Given the description of an element on the screen output the (x, y) to click on. 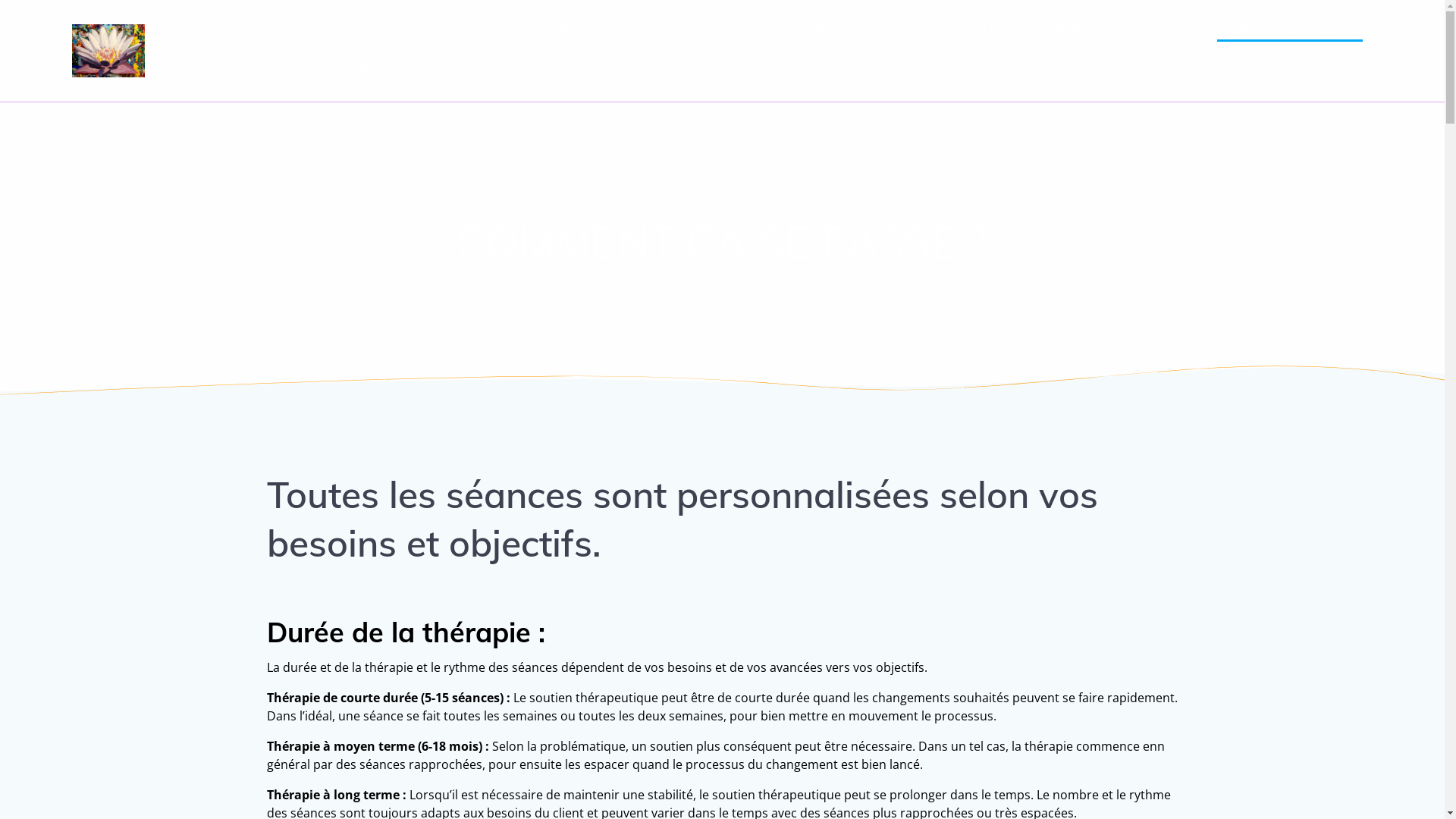
CONTACT Element type: text (428, 70)
HYPNOSE THERAPEUTIQUE Element type: text (415, 30)
QUI SUIS-JE ? Element type: text (203, 70)
THERAPIE PAR LE JEU ET/OU LE JEU DE SABLE Element type: text (644, 30)
ACCUEIL Element type: text (190, 30)
COMMENT CA SE PASSE ? Element type: text (1289, 31)
THERAPIE POUR ENFANT ET ADOLESCENT Element type: text (914, 30)
TARIFS ET HORAIRES Element type: text (321, 70)
ART-THERAPIE Element type: text (276, 30)
THERAPIE POUR ADULTE Element type: text (1124, 30)
